Given the description of an element on the screen output the (x, y) to click on. 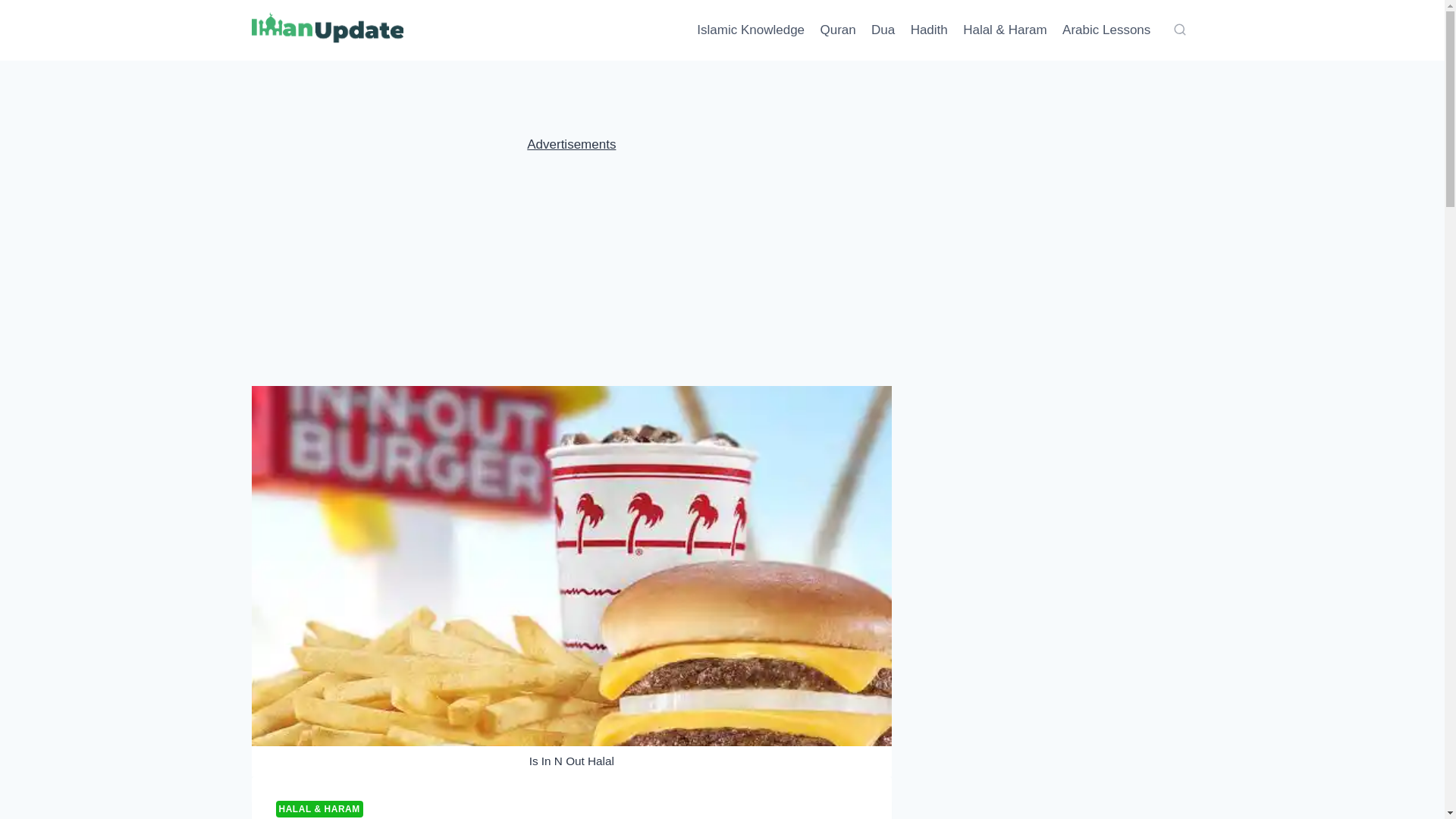
Dua (882, 30)
Arabic Lessons (1106, 30)
Quran (837, 30)
Islamic Knowledge (750, 30)
Hadith (928, 30)
